Given the description of an element on the screen output the (x, y) to click on. 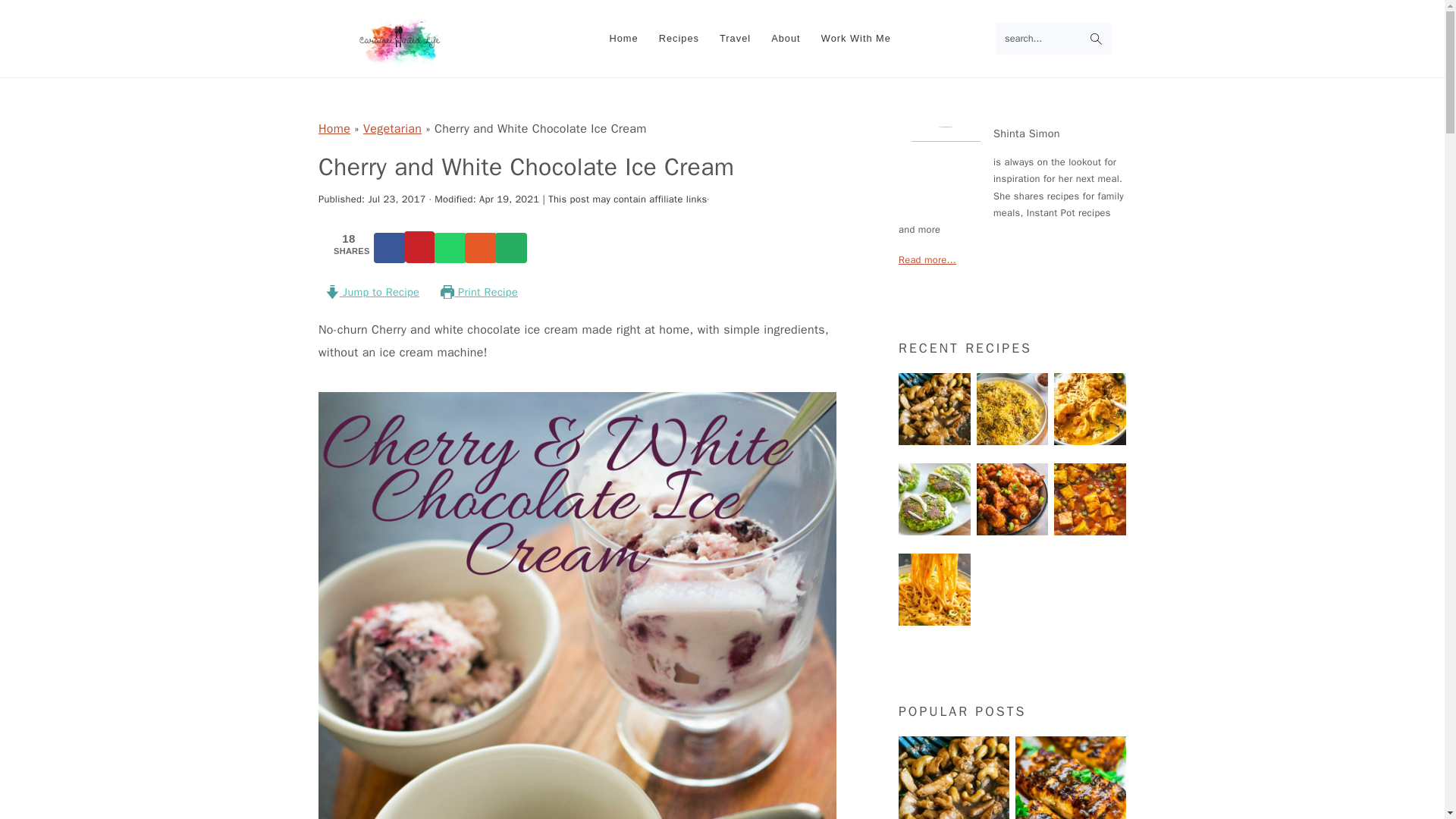
Home (622, 39)
Travel (734, 39)
Recipes (678, 39)
Send over email (511, 247)
Share on Yummly (480, 247)
Jump to Recipe (372, 292)
Work With Me (855, 39)
Jump to Recipe Print Recipe (591, 294)
